Given the description of an element on the screen output the (x, y) to click on. 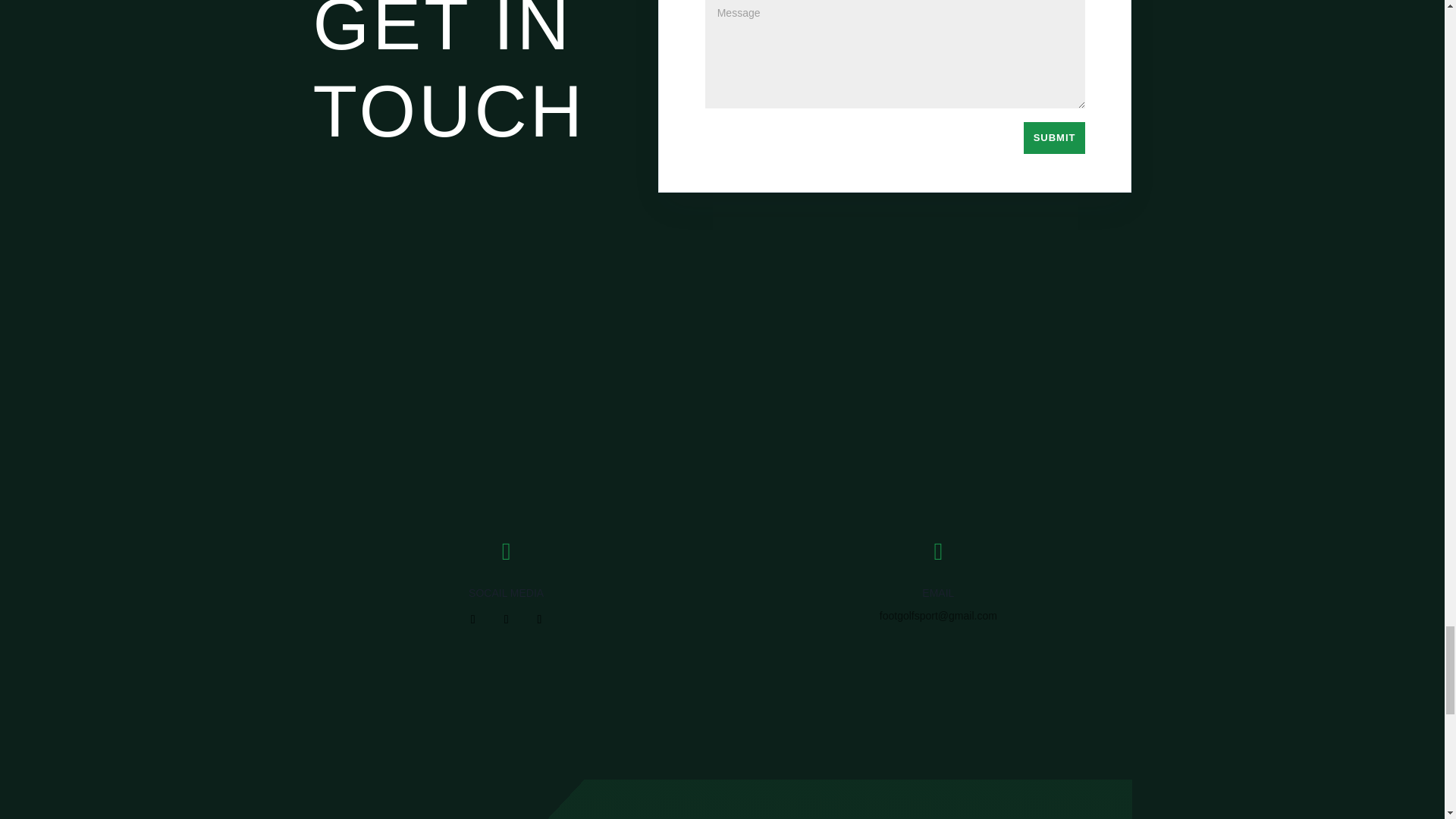
Follow on Twitter (506, 619)
Follow on Facebook (472, 619)
Follow on Instagram (539, 619)
SUBMIT (1054, 137)
